Given the description of an element on the screen output the (x, y) to click on. 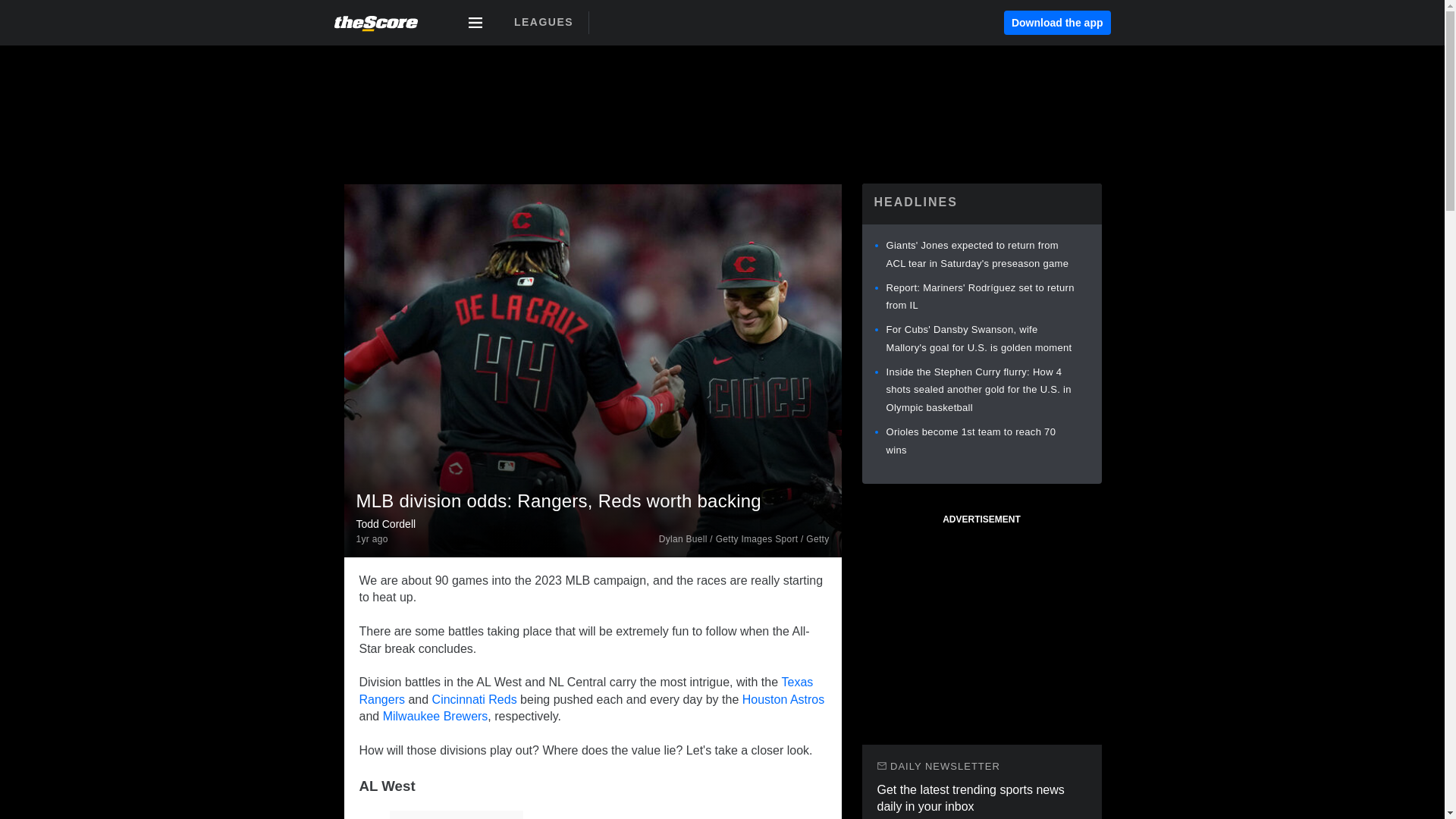
Houston Astros (783, 698)
Milwaukee Brewers (434, 716)
3rd party ad content - leaderboard (721, 94)
LEAGUES (543, 22)
Orioles become 1st team to reach 70 wins (970, 440)
Todd Cordell (386, 523)
Cincinnati Reds (474, 698)
2023-07-11T12:16:07.000Z (372, 539)
